Given the description of an element on the screen output the (x, y) to click on. 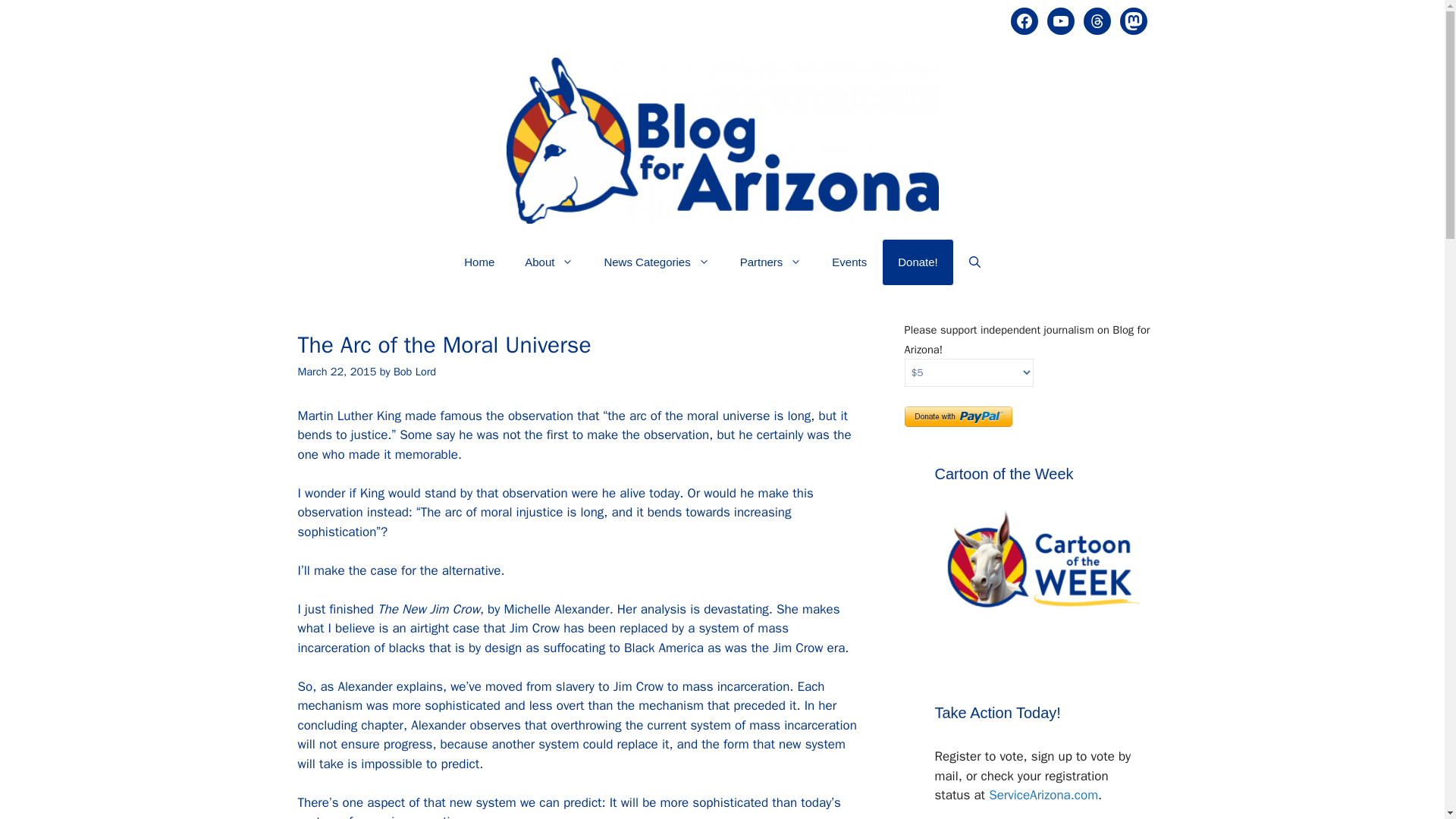
Events (849, 262)
Donate! (917, 262)
Mastodon (1133, 21)
Home (478, 262)
Partners (770, 262)
Bob Lord (414, 371)
About (548, 262)
View all posts by Bob Lord (414, 371)
Threads (1096, 21)
Facebook (1023, 21)
YouTube (1060, 21)
News Categories (655, 262)
